Given the description of an element on the screen output the (x, y) to click on. 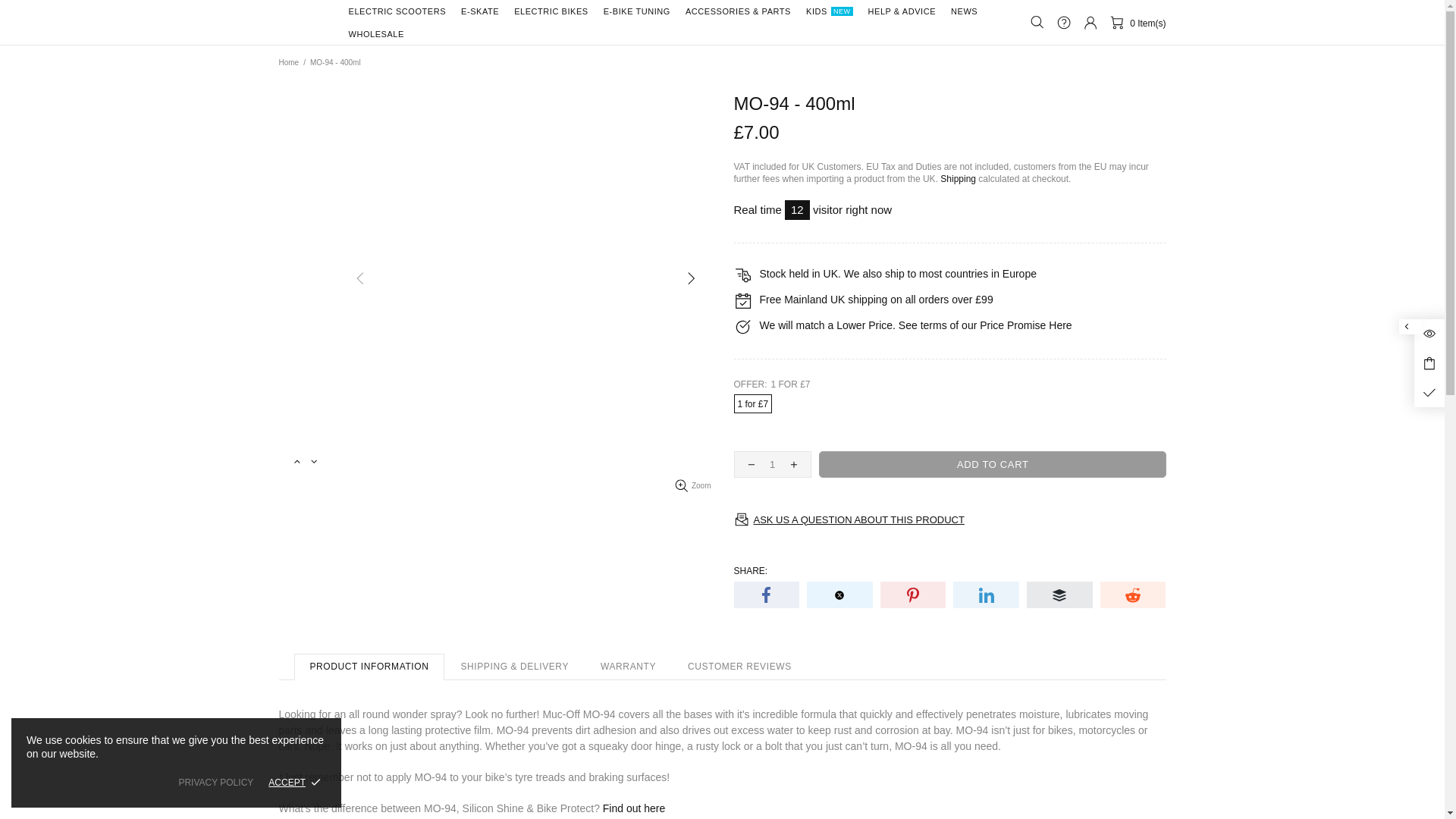
1 (771, 464)
Compare the range (633, 808)
Beyond PEV (304, 22)
Price Match Promise (1059, 325)
ELECTRIC SCOOTERS (397, 11)
